Given the description of an element on the screen output the (x, y) to click on. 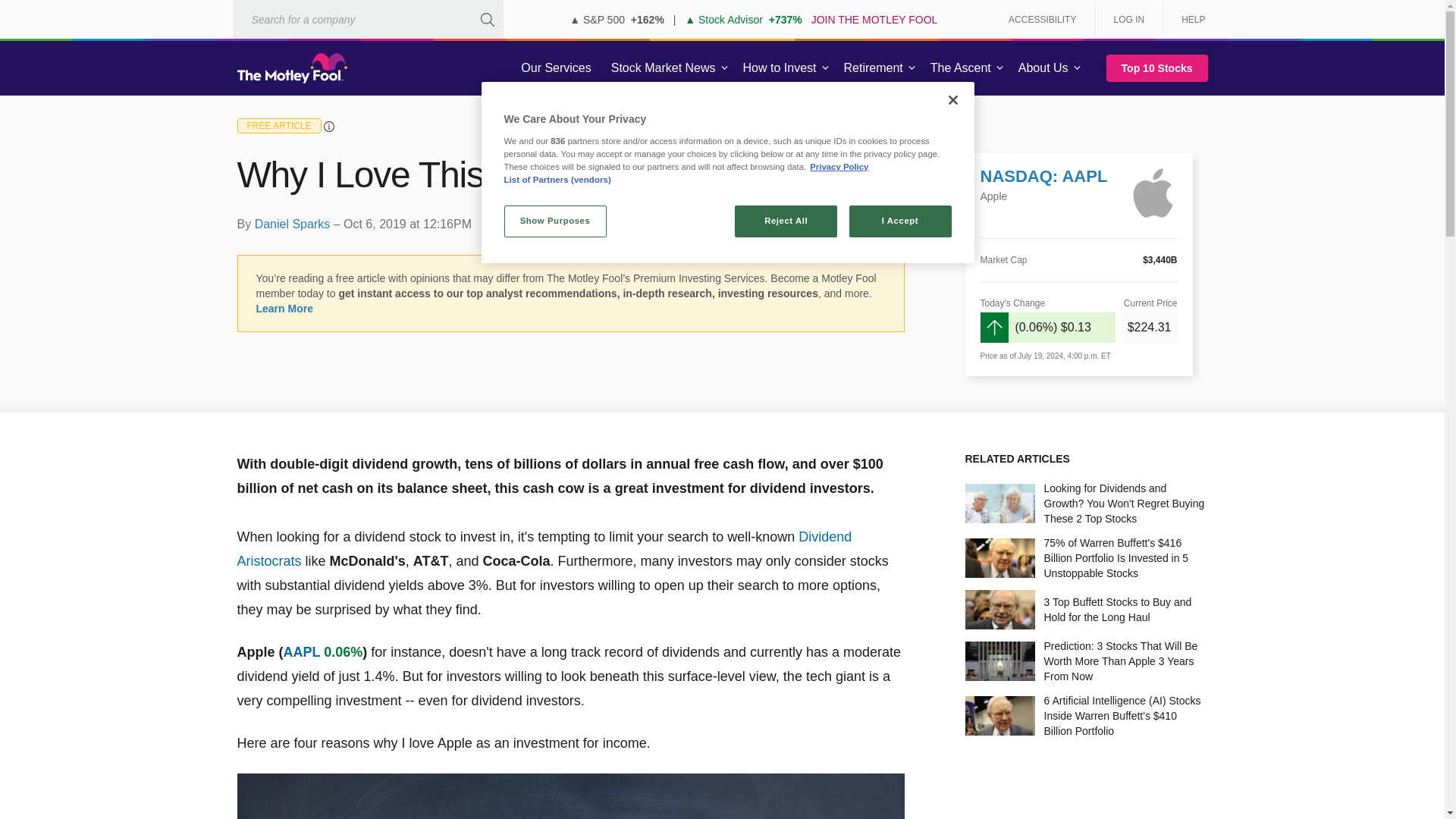
ACCESSIBILITY (1042, 19)
Our Services (555, 67)
HELP (1187, 19)
How to Invest (779, 67)
LOG IN (1128, 19)
Stock Market News (662, 67)
